Given the description of an element on the screen output the (x, y) to click on. 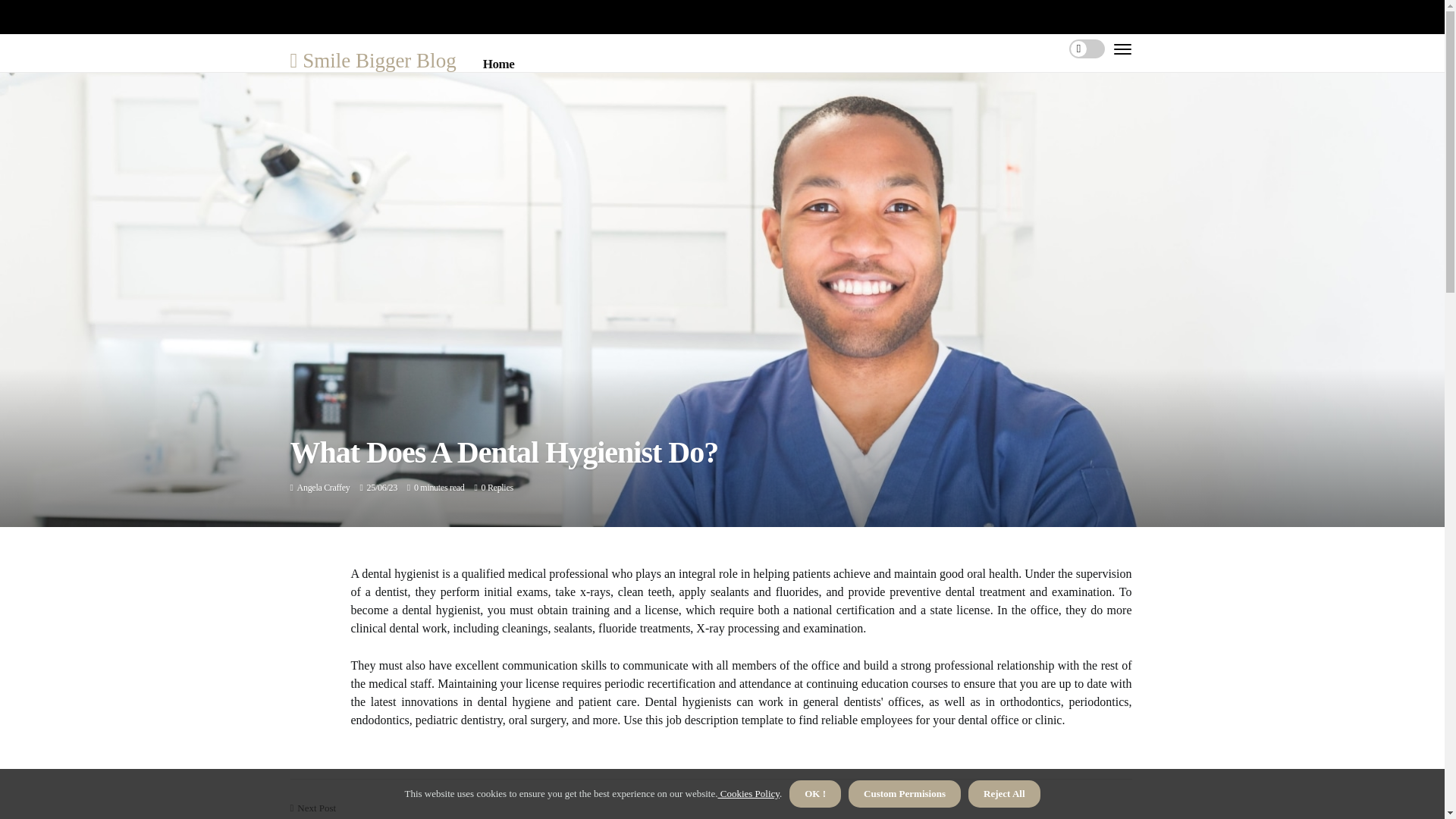
Posts by Angela Craffey (323, 487)
Angela Craffey (323, 487)
Smile Bigger Blog (372, 59)
0 Replies (496, 487)
